Given the description of an element on the screen output the (x, y) to click on. 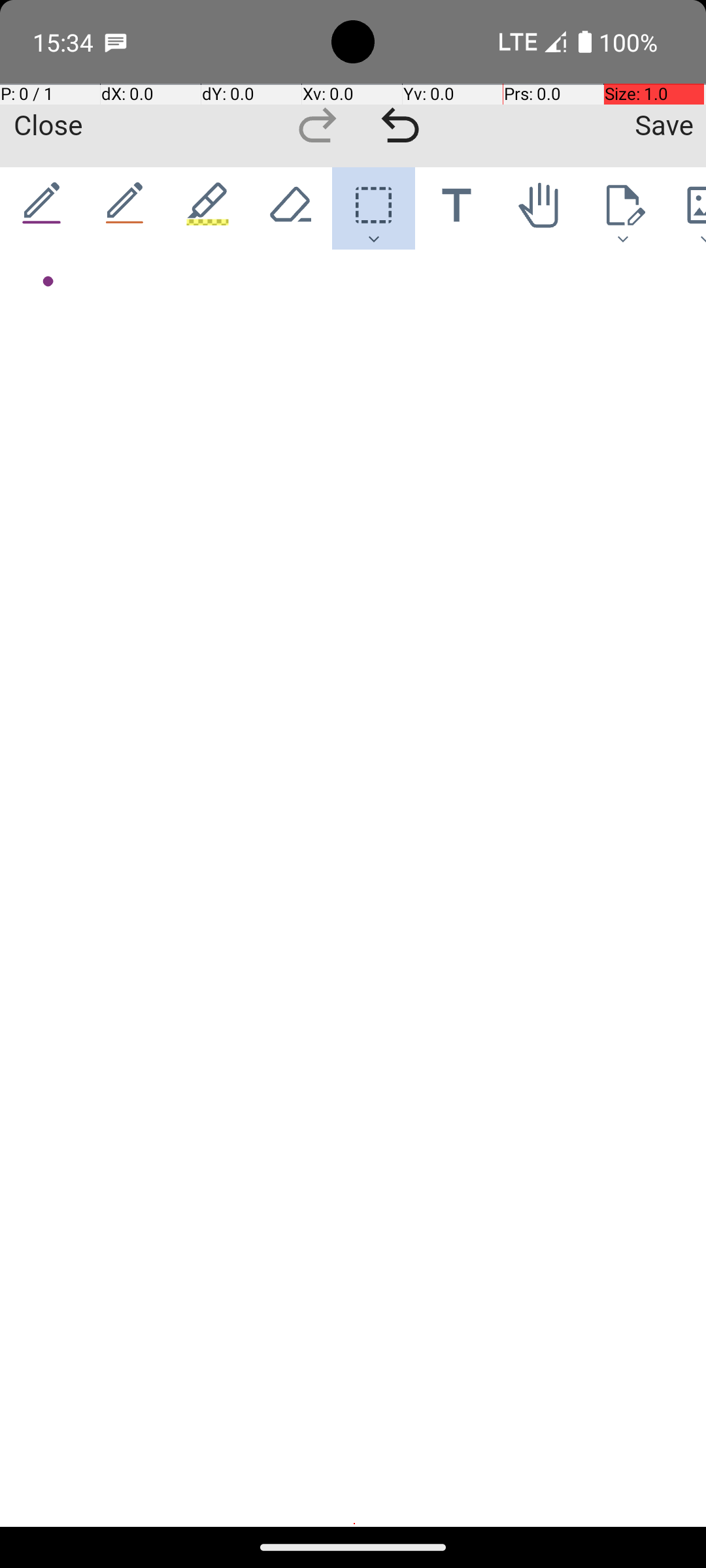
Selection enabled Element type: android.widget.TextView (56, 281)
Re-render as text Element type: android.widget.Button (47, 308)
Enable sound-based exploration Element type: android.widget.Button (70, 309)
Pen 1 Element type: android.widget.ToggleButton (41, 208)
Pen 2 Element type: android.widget.Button (125, 208)
Pen 3 Element type: android.widget.Button (207, 208)
Pan Element type: android.widget.Button (540, 208)
Page Element type: android.widget.Button (622, 208)
